Given the description of an element on the screen output the (x, y) to click on. 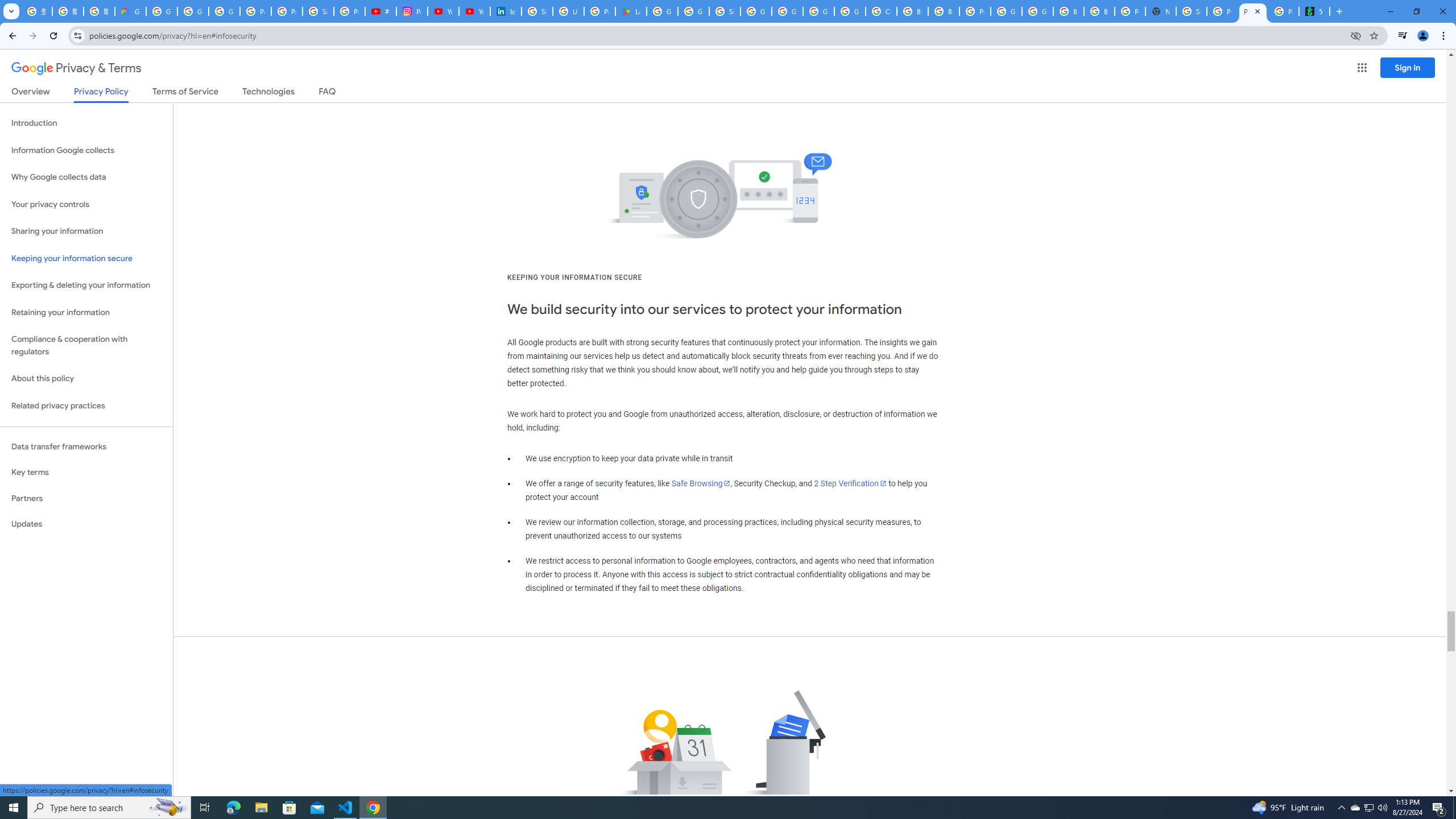
Browse Chrome as a guest - Computer - Google Chrome Help (1068, 11)
YouTube Culture & Trends - On The Rise: Handcam Videos (443, 11)
Google Workspace - Specific Terms (693, 11)
Google Cloud Platform (1037, 11)
